Given the description of an element on the screen output the (x, y) to click on. 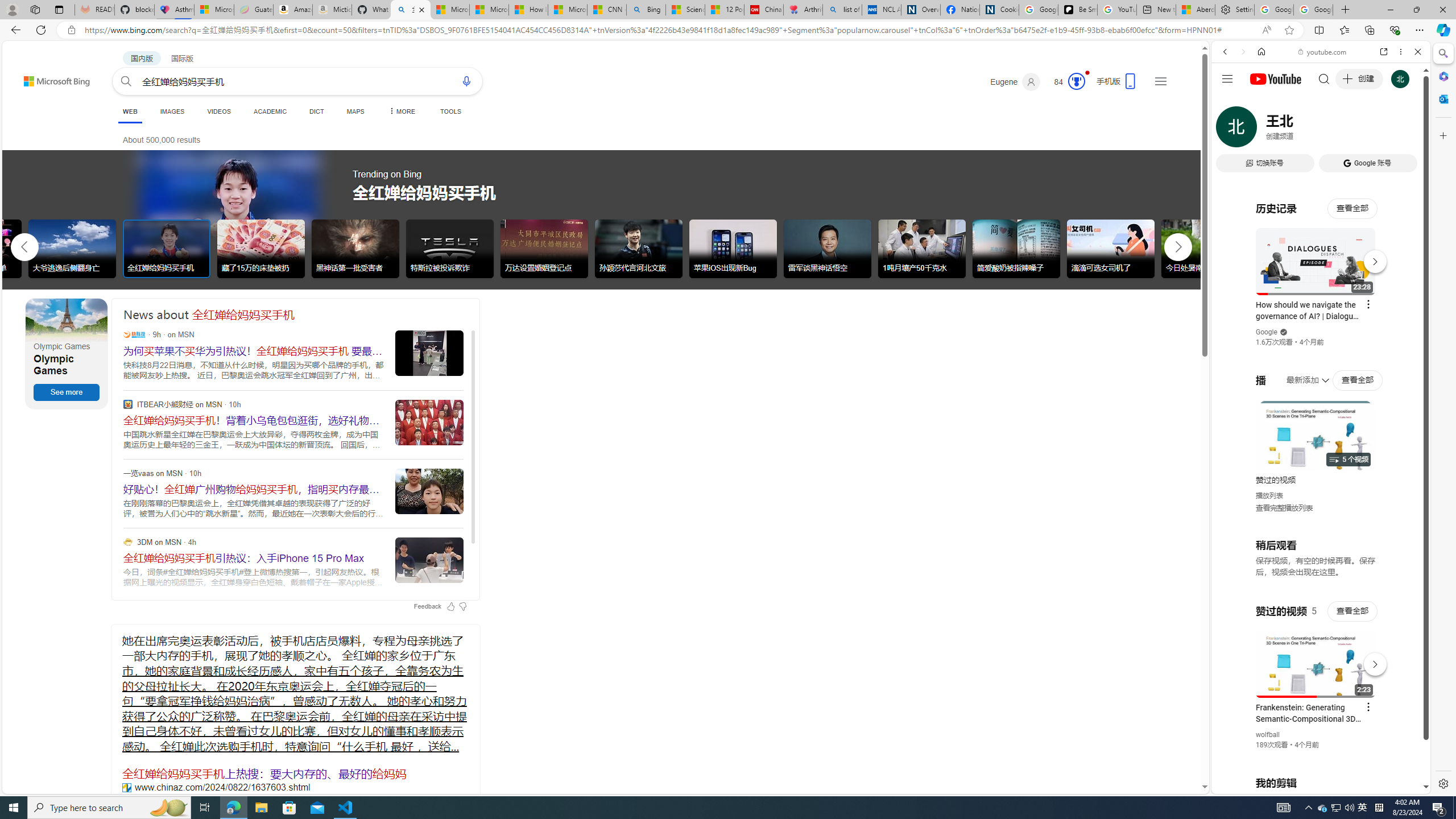
Show More Music (1390, 310)
Music (1320, 309)
Trailer #2 [HD] (1320, 336)
Search Filter, Search Tools (1350, 129)
DICT (316, 111)
